Given the description of an element on the screen output the (x, y) to click on. 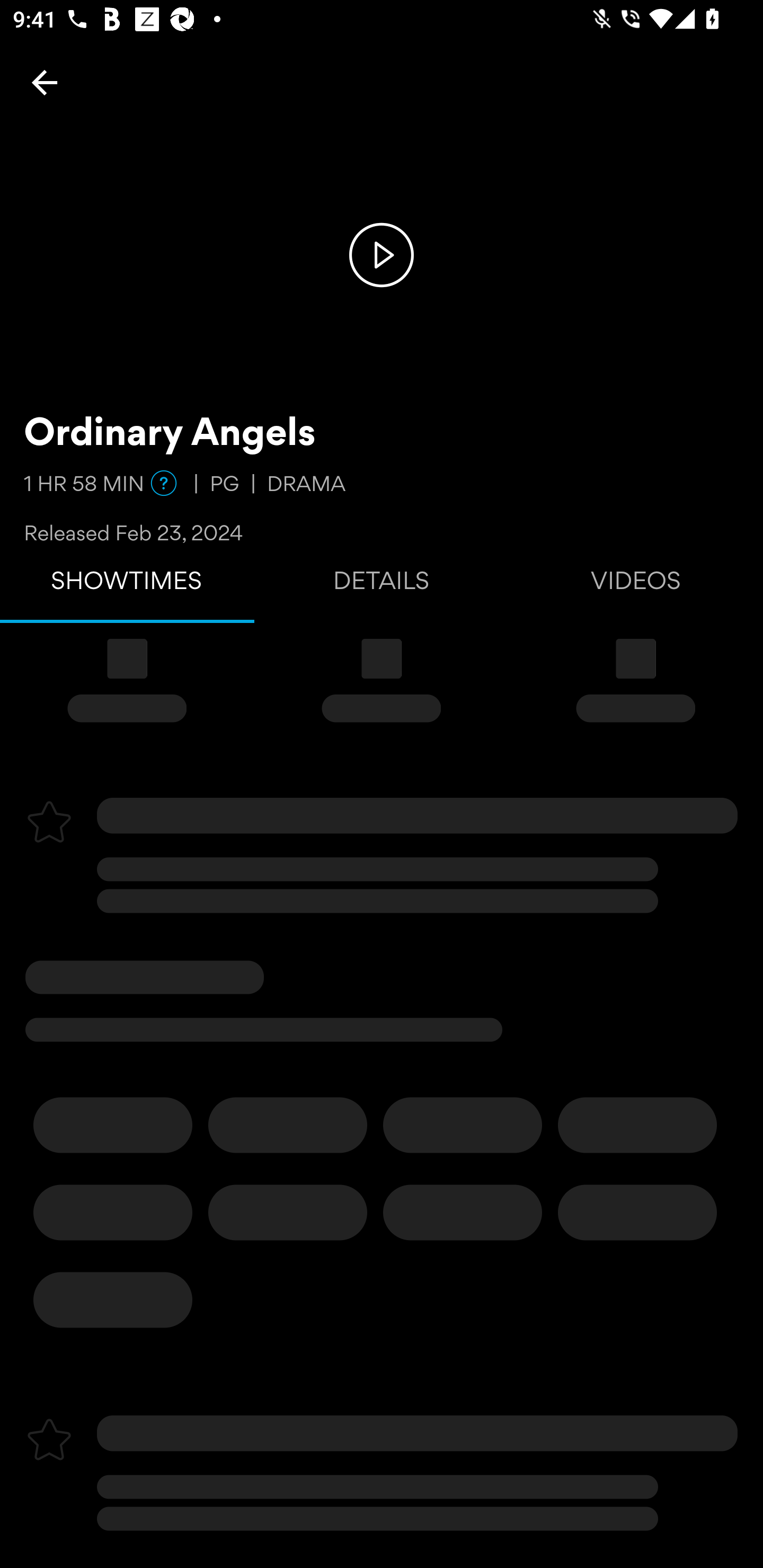
Back (44, 82)
Play (381, 254)
Help (163, 482)
SHOWTIMES
Tab 1 of 3 (127, 584)
DETAILS
Tab 2 of 3 (381, 584)
VIDEOS
Tab 3 of 3 (635, 584)
